Given the description of an element on the screen output the (x, y) to click on. 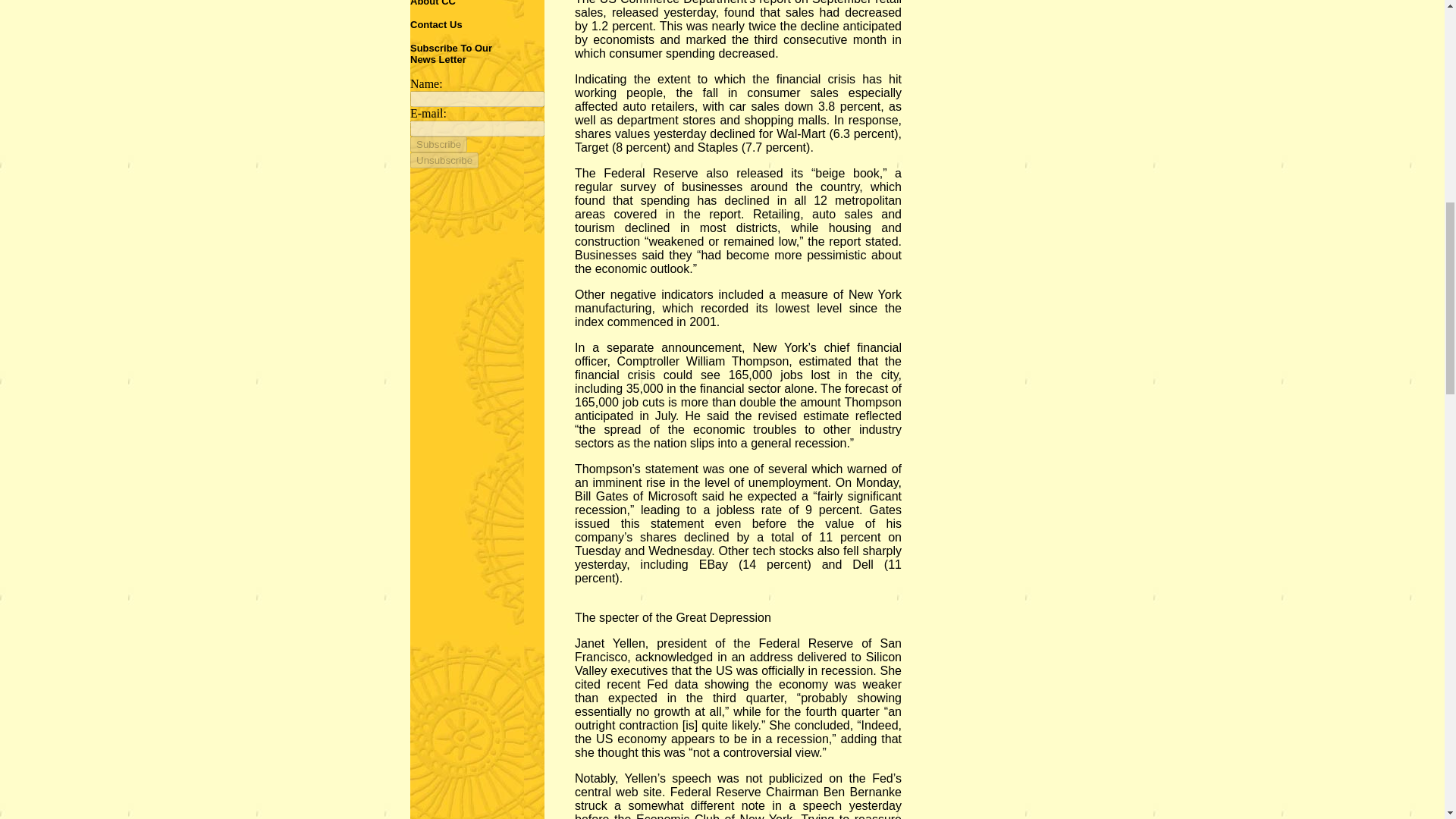
Contact Us (436, 23)
Subscribe (438, 144)
Unsubscribe (444, 160)
Subscribe (438, 144)
Unsubscribe (444, 160)
About CC (432, 3)
